Given the description of an element on the screen output the (x, y) to click on. 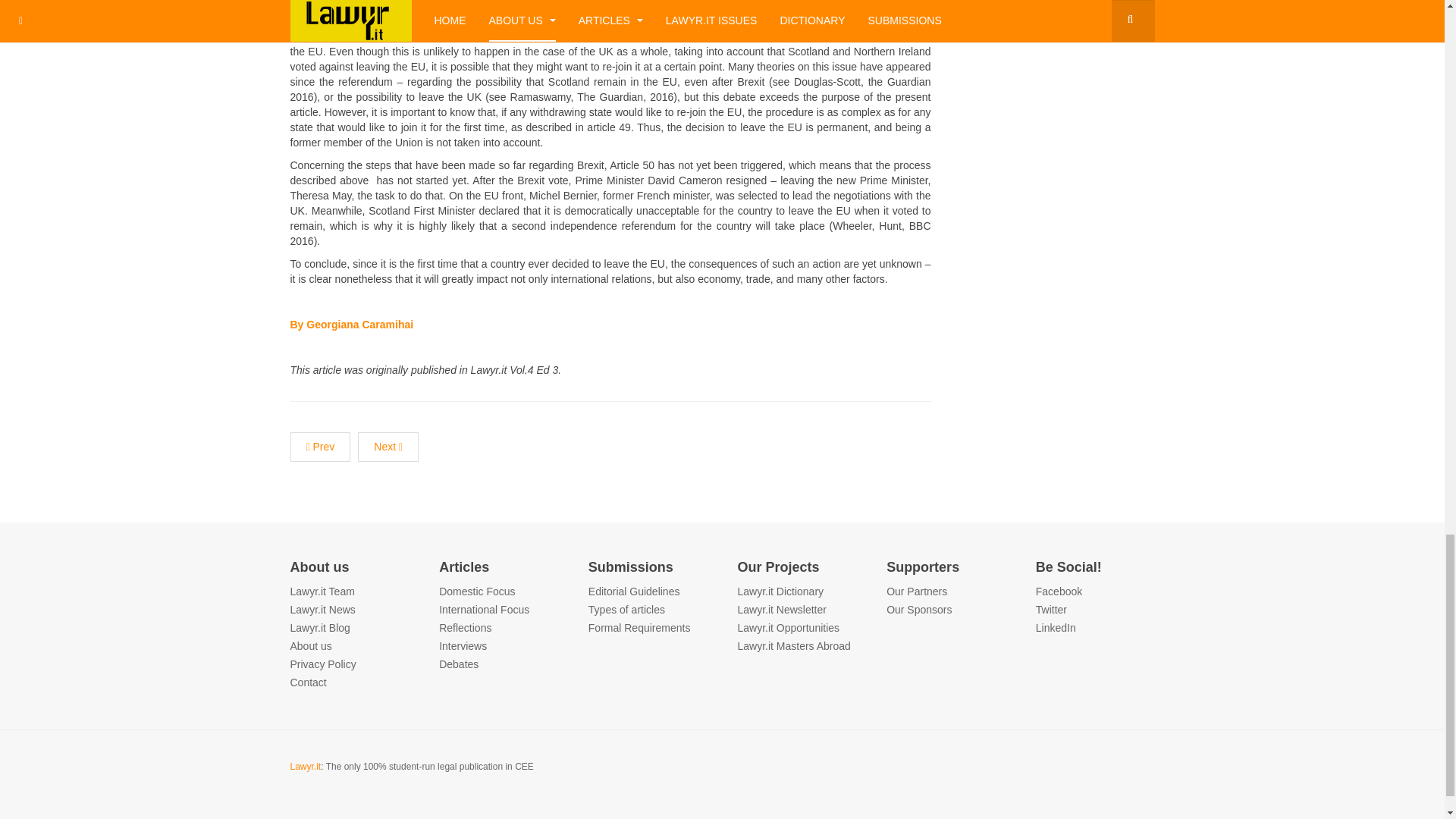
Joomla 3 template (307, 682)
Joomla extension (322, 609)
T3 template (477, 591)
Joomla template (321, 591)
Joomla plugin (310, 645)
